Given the description of an element on the screen output the (x, y) to click on. 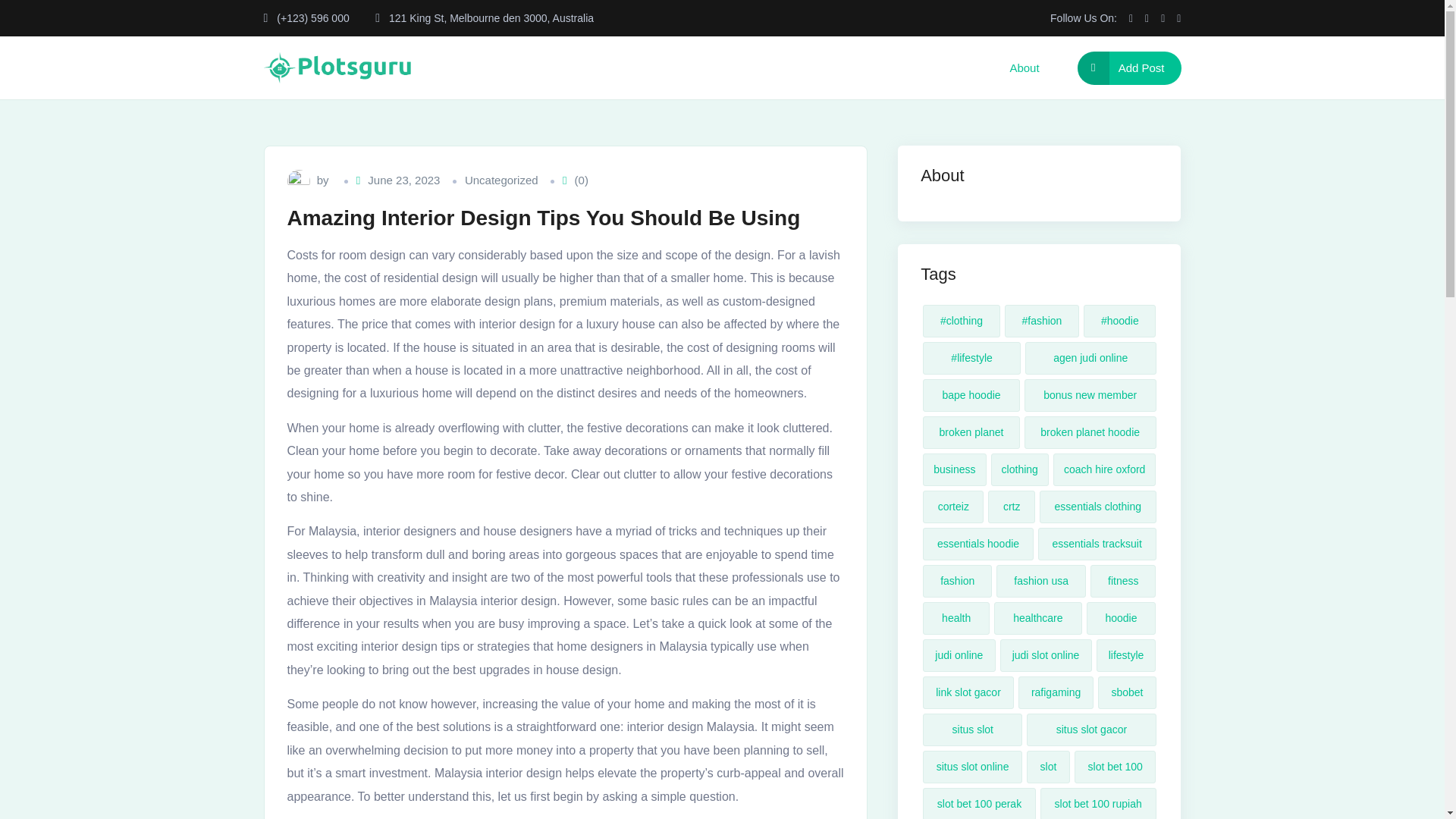
broken planet hoodie (1090, 432)
Add Post (1128, 68)
Uncategorized (501, 180)
bonus new member (1090, 395)
agen judi online (1090, 358)
bape hoodie (971, 395)
broken planet (971, 432)
